Given the description of an element on the screen output the (x, y) to click on. 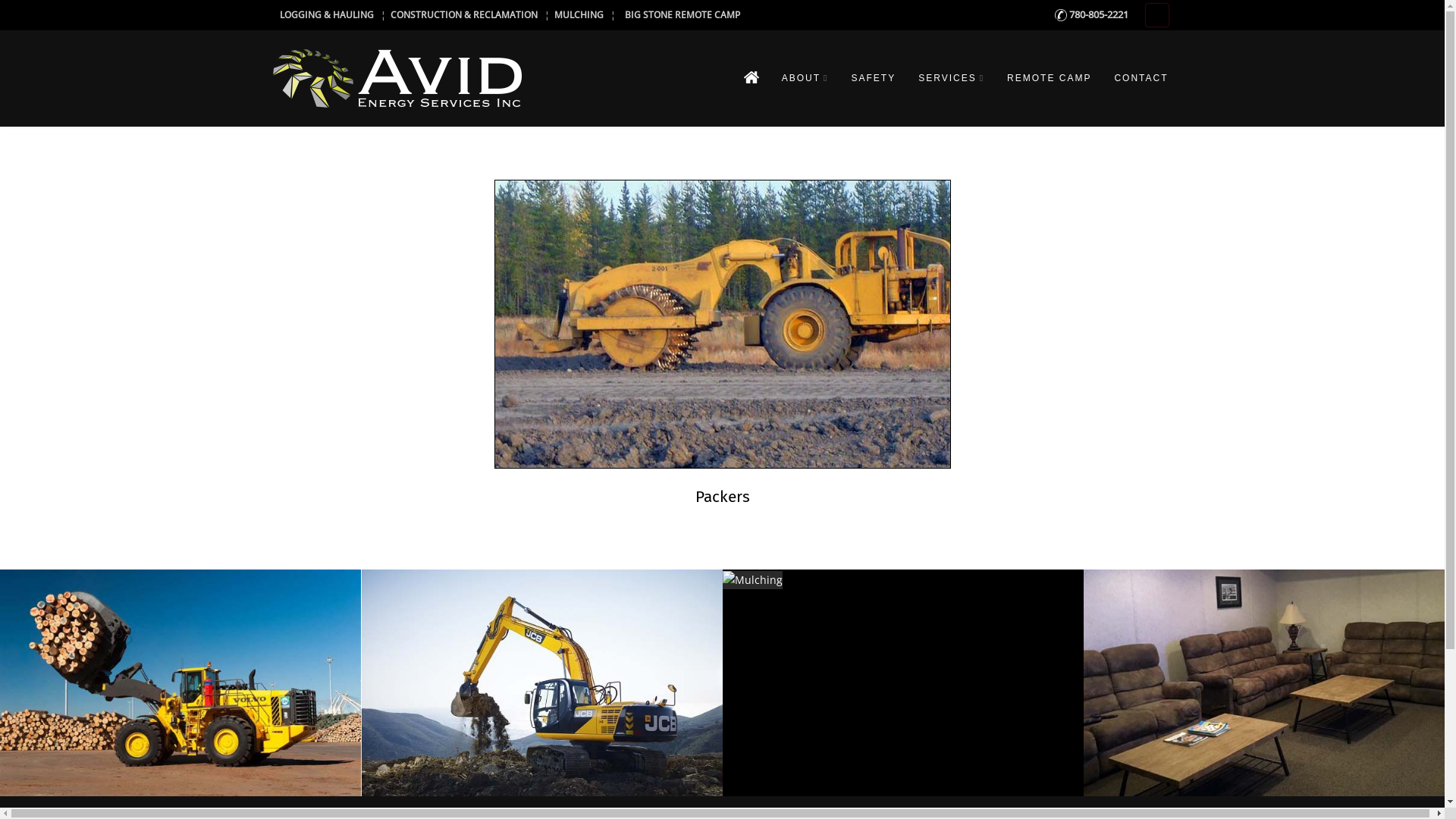
CONSTRUCTION & RECLAMATION Element type: text (462, 14)
SERVICES Element type: text (951, 77)
Facebook Element type: text (1156, 14)
REMOTE CAMP Element type: text (1049, 77)
CONTACT Element type: text (1140, 77)
LOGGING & HAULING Element type: text (326, 14)
MULCHING Element type: text (577, 14)
SAFETY Element type: text (873, 77)
BIG STONE REMOTE CAMP  Element type: text (683, 14)
ABOUT Element type: text (805, 77)
780-805-2221  Element type: text (1091, 14)
